Given the description of an element on the screen output the (x, y) to click on. 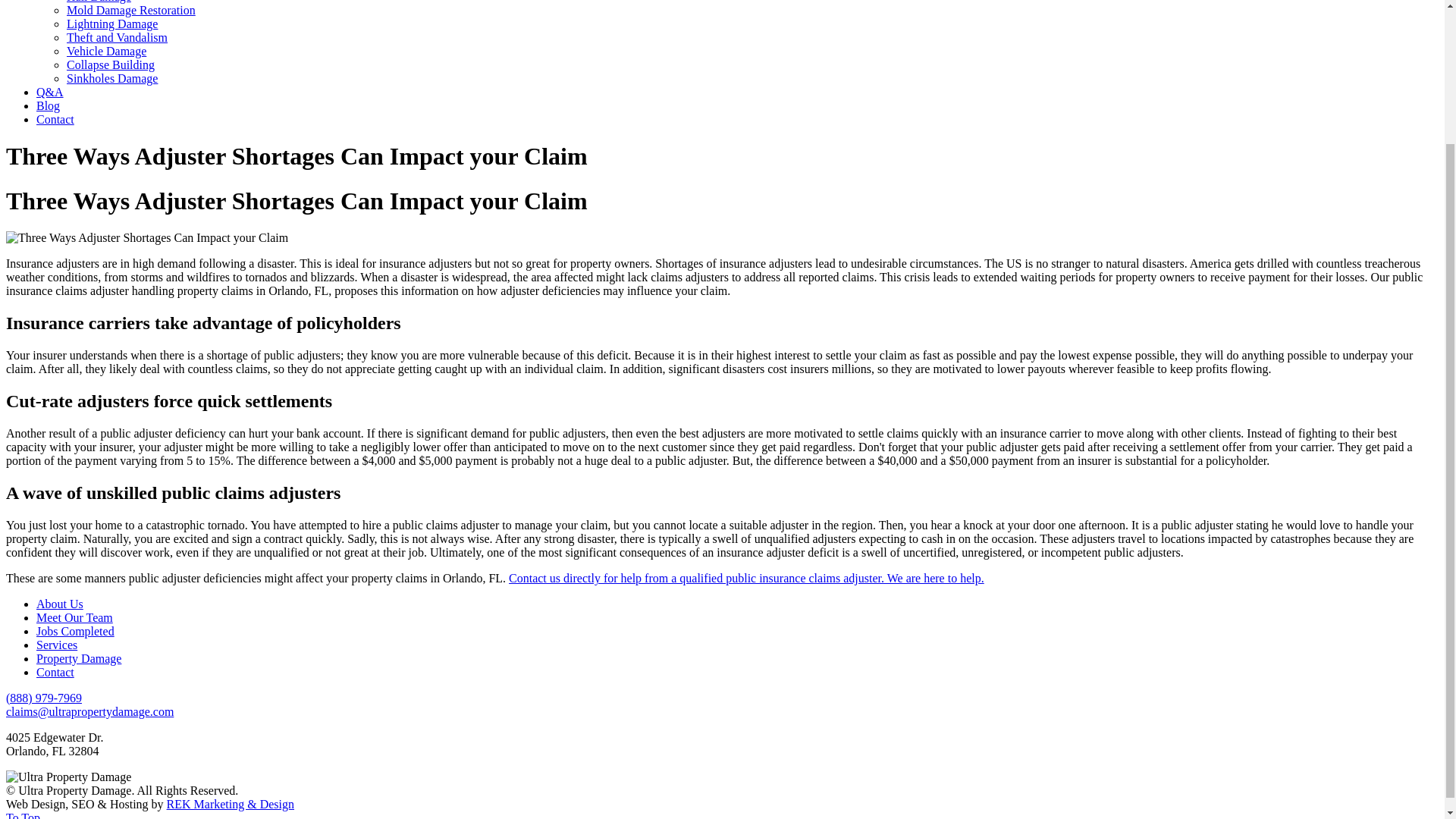
Blog (47, 105)
Hail Damage (98, 1)
Property Damage (78, 658)
Collapse Building (110, 64)
Jobs Completed (75, 631)
Vehicle Damage (106, 51)
Sinkholes Damage (111, 78)
Vehicle Damage (106, 51)
Theft and Vandalism (116, 37)
Contact (55, 671)
